Given the description of an element on the screen output the (x, y) to click on. 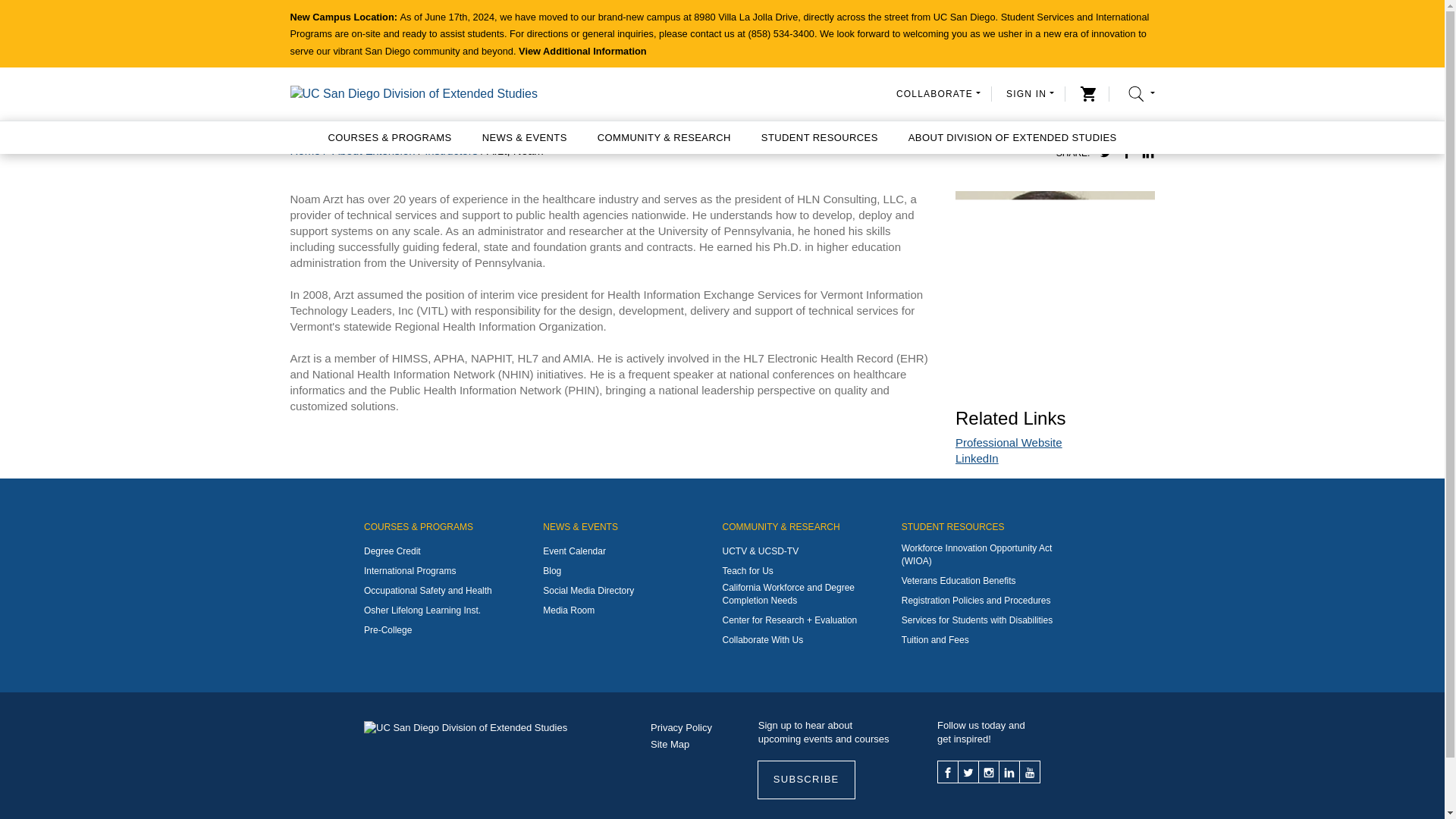
COLLABORATE (937, 93)
View Additional Information (582, 50)
SIGN IN (1030, 93)
